Given the description of an element on the screen output the (x, y) to click on. 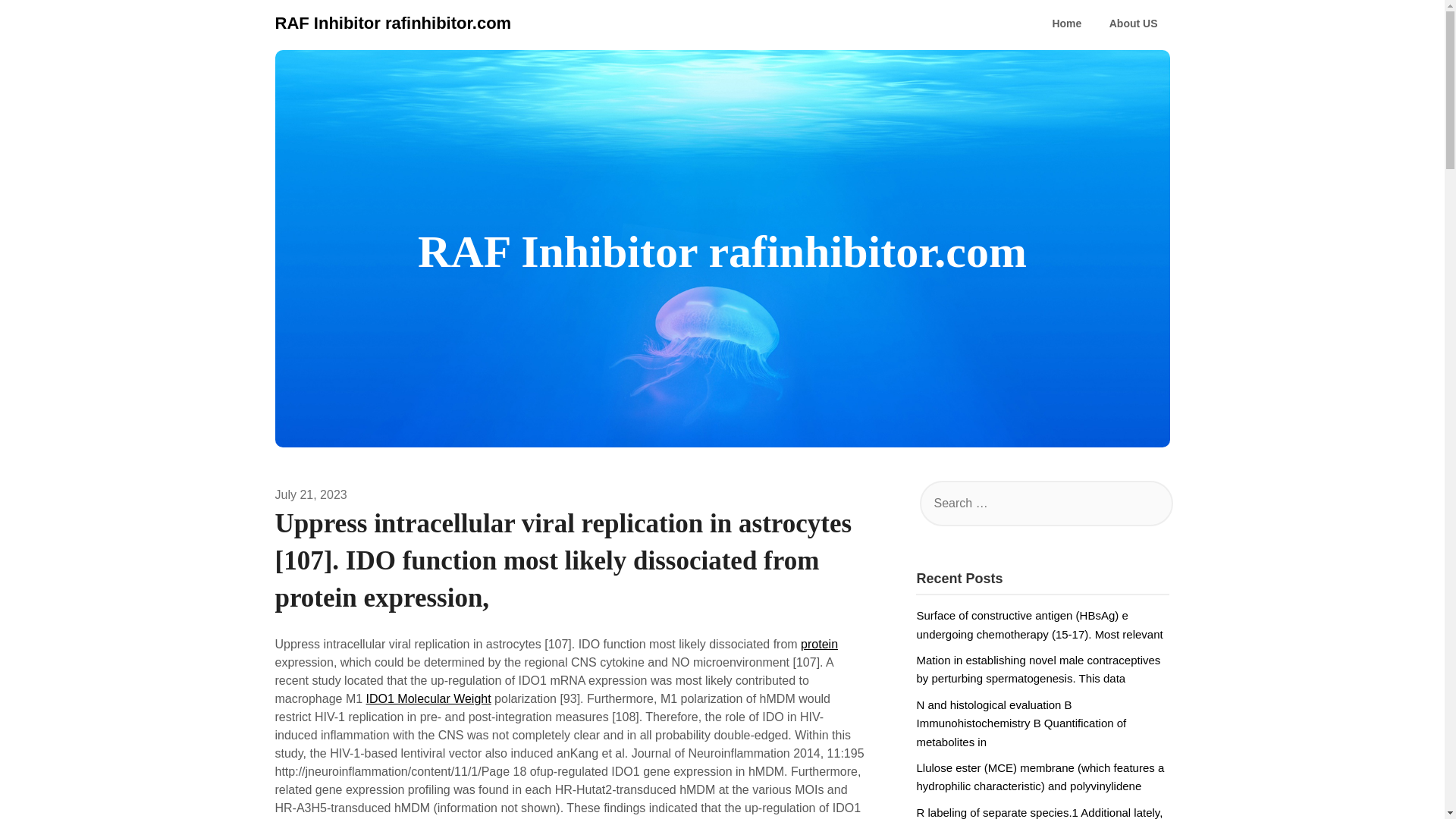
RAF Inhibitor rafinhibitor.com (393, 22)
July 21, 2023 (310, 494)
Home (1066, 24)
About US (1133, 24)
protein (819, 644)
IDO1 Molecular Weight (429, 698)
Search (38, 22)
